Given the description of an element on the screen output the (x, y) to click on. 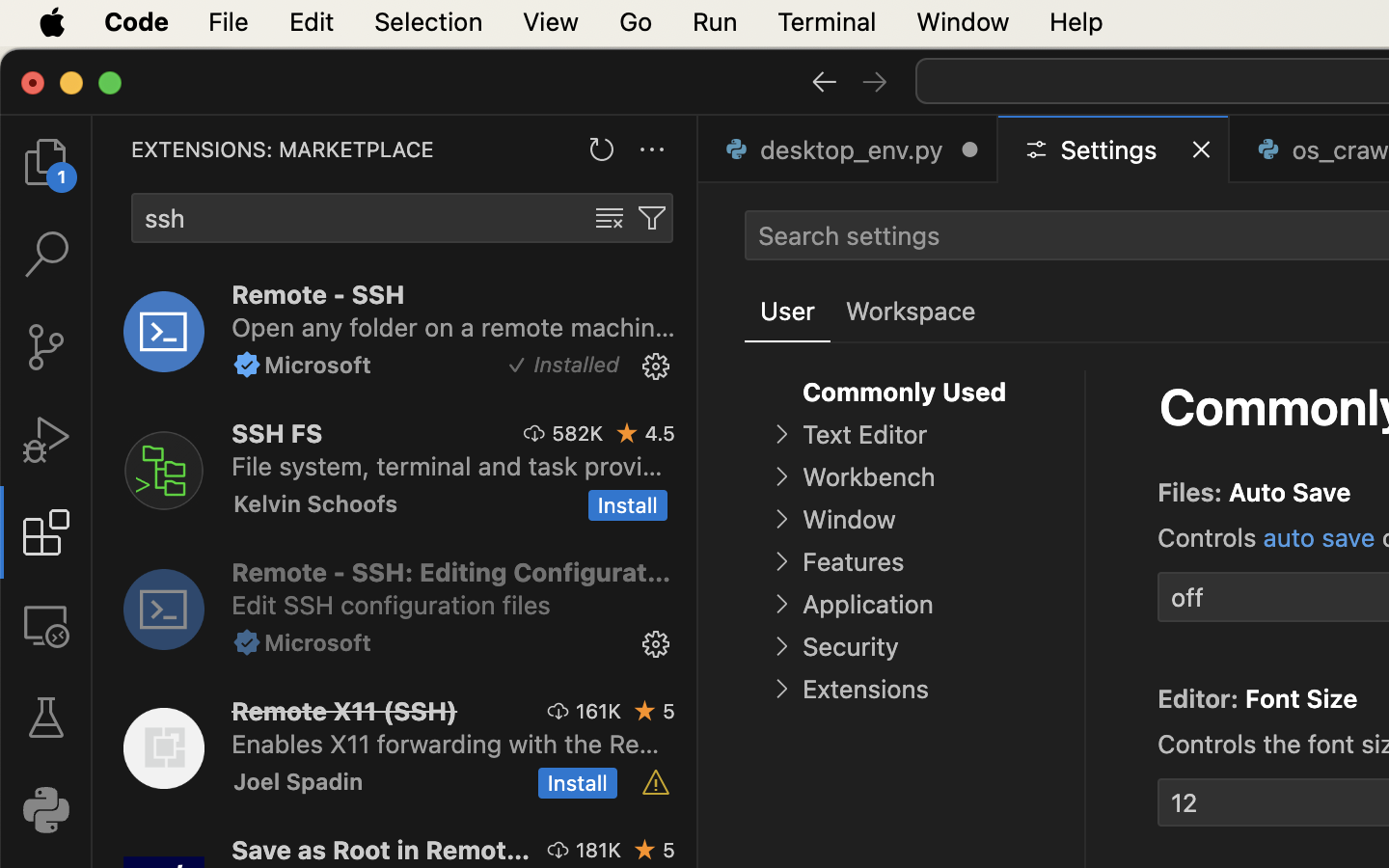
4.5 Element type: AXStaticText (659, 432)
0  Element type: AXRadioButton (46, 439)
0  Element type: AXRadioButton (46, 161)
 Element type: AXStaticText (780, 476)
161K Element type: AXStaticText (597, 710)
